Given the description of an element on the screen output the (x, y) to click on. 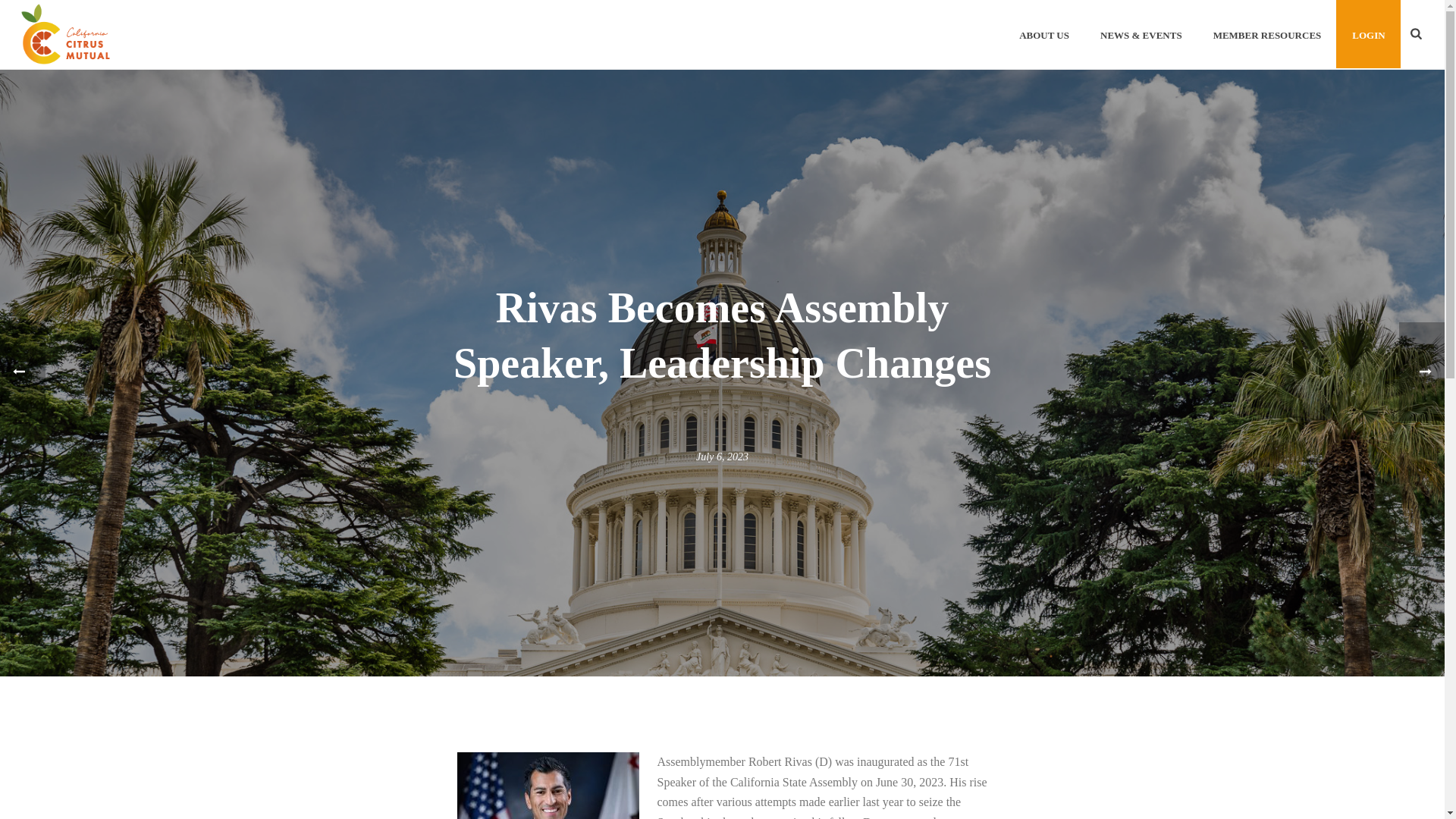
ABOUT US (1044, 33)
MEMBER RESOURCES (1267, 33)
Voice of the California Citrus Grower (65, 33)
LOGIN (1367, 33)
LOGIN (1367, 33)
MEMBER RESOURCES (1267, 33)
ABOUT US (1044, 33)
